Given the description of an element on the screen output the (x, y) to click on. 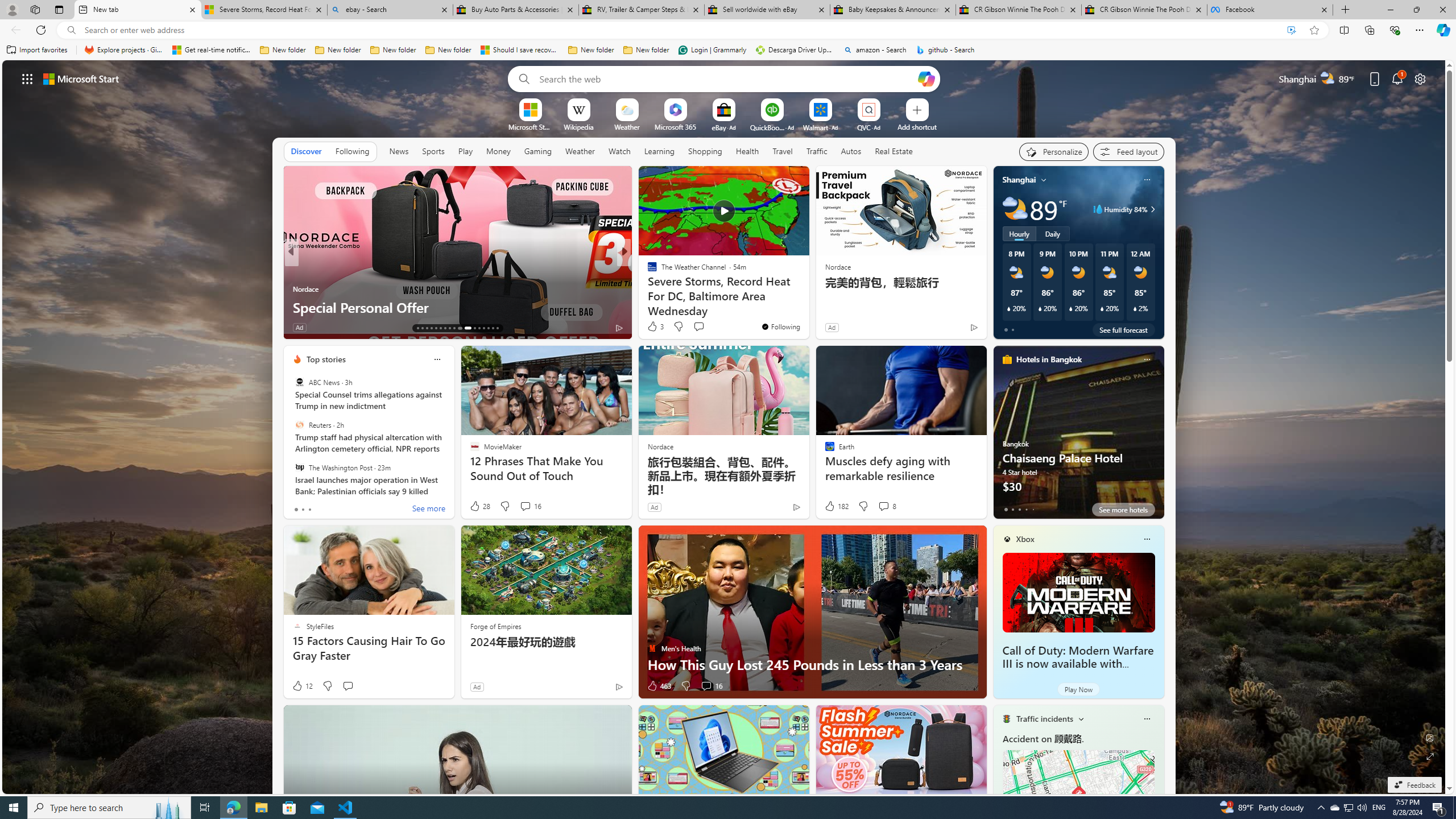
Sell worldwide with eBay (766, 9)
Discover (306, 151)
Play (465, 151)
Facebook (1270, 9)
You're following The Weather Channel (780, 326)
AutomationID: backgroundImagePicture (723, 426)
Hide this story (774, 179)
353 Like (654, 327)
New tab (137, 9)
AutomationID: tab-16 (431, 328)
MUO (647, 288)
Search icon (70, 29)
